Given the description of an element on the screen output the (x, y) to click on. 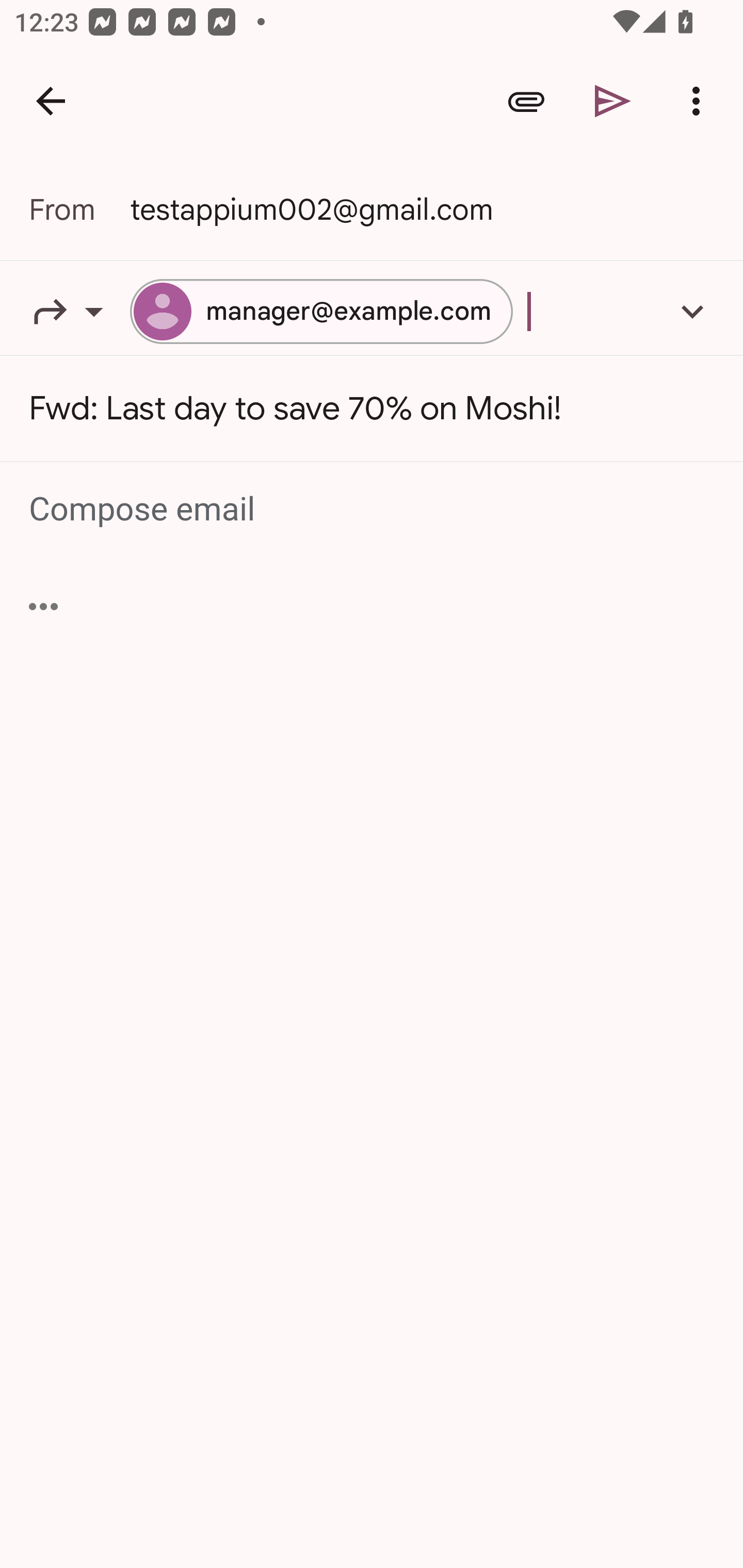
Navigate up (50, 101)
Attach file (525, 101)
Send (612, 101)
More options (699, 101)
From (79, 209)
Forward (79, 311)
Add Cc/Bcc (692, 311)
Fwd: Last day to save 70% on Moshi! (371, 407)
Compose email (372, 509)
Include quoted text (43, 605)
